Given the description of an element on the screen output the (x, y) to click on. 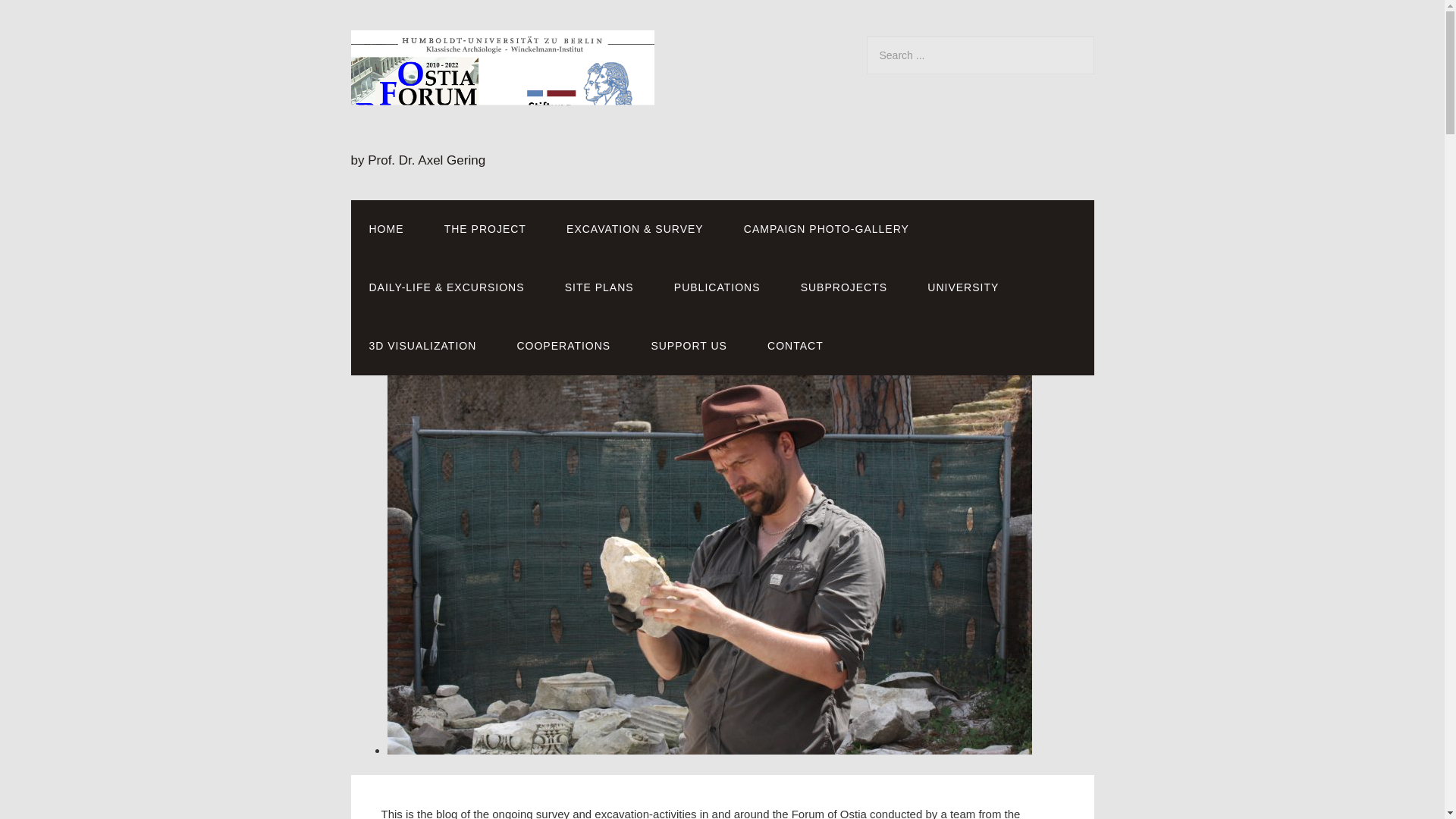
Ostia Forum Project (501, 134)
THE PROJECT (485, 228)
HOME (386, 228)
Search for: (979, 55)
